Given the description of an element on the screen output the (x, y) to click on. 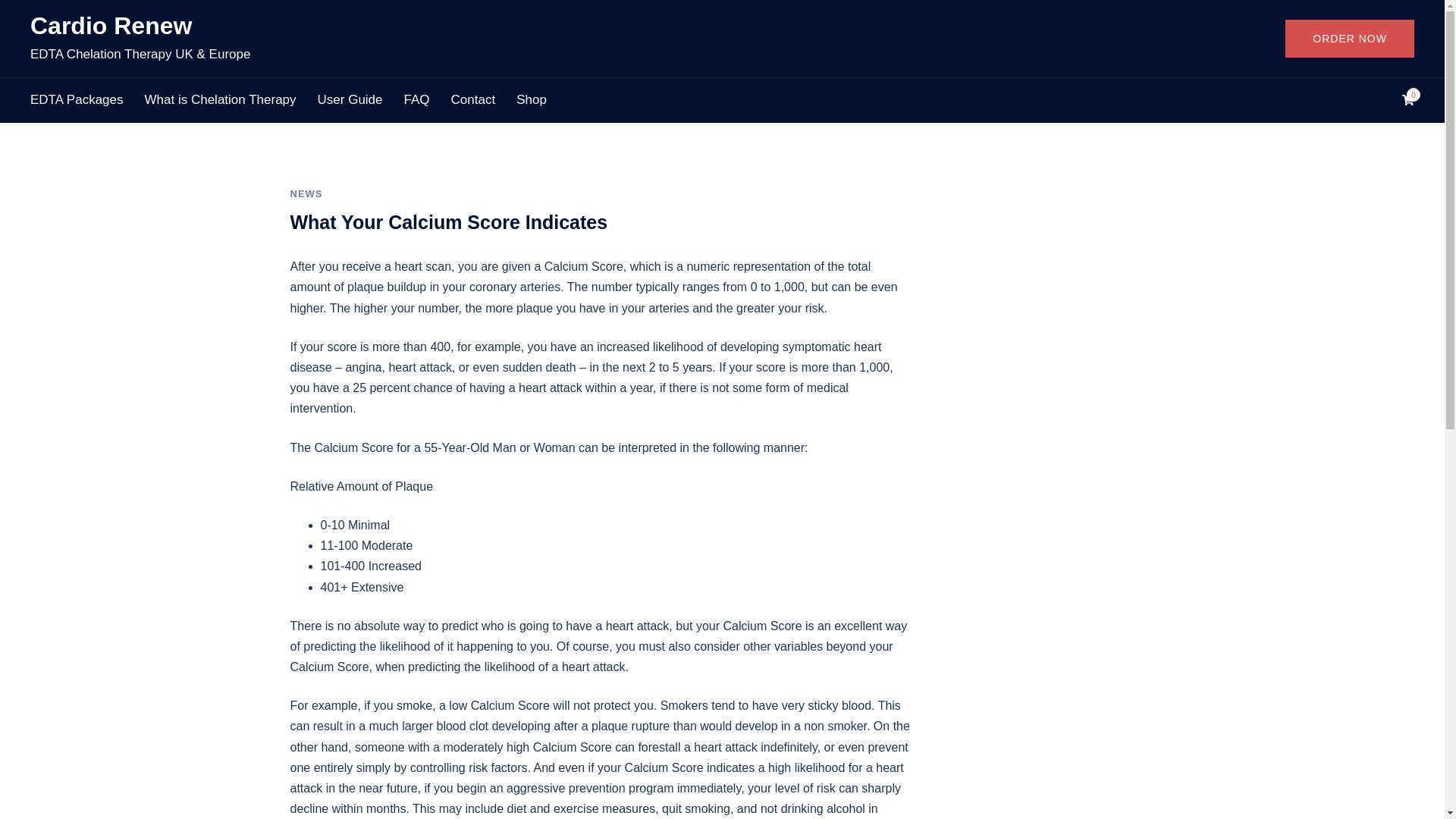
Contact (473, 100)
EDTA Packages (76, 100)
View your shopping cart (1407, 100)
Shop (531, 100)
Cardio Renew (111, 25)
ORDER NOW (1349, 38)
NEWS (305, 193)
0 (1407, 100)
What is Chelation Therapy (220, 100)
FAQ (416, 100)
